Given the description of an element on the screen output the (x, y) to click on. 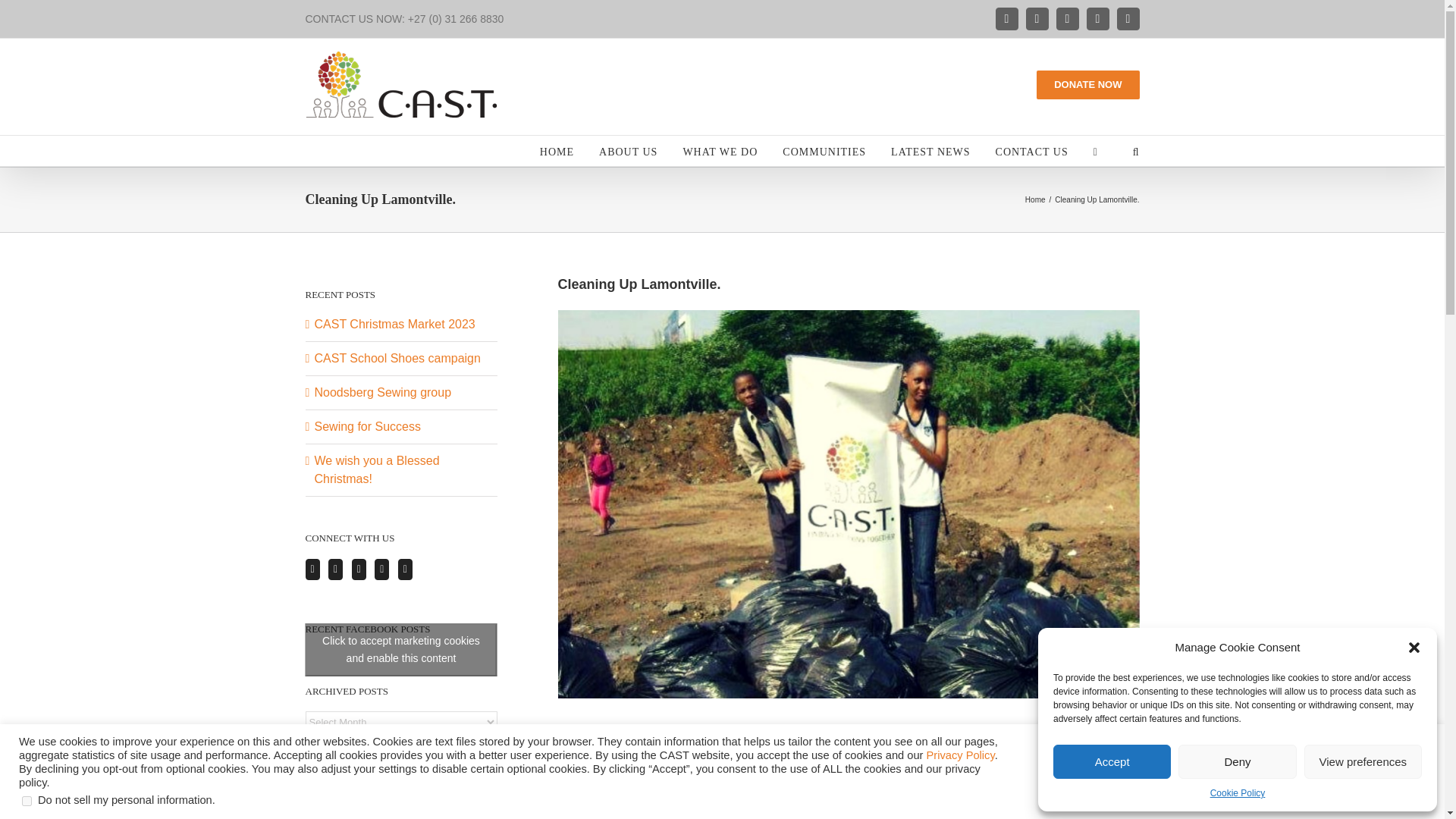
Instagram (1066, 18)
LinkedIn (1127, 18)
Instagram (1066, 18)
YouTube (1097, 18)
Accept (1111, 761)
YouTube (1097, 18)
Deny (1236, 761)
COMMUNITIES (824, 150)
X (1036, 18)
Cookie Policy (1237, 793)
